Given the description of an element on the screen output the (x, y) to click on. 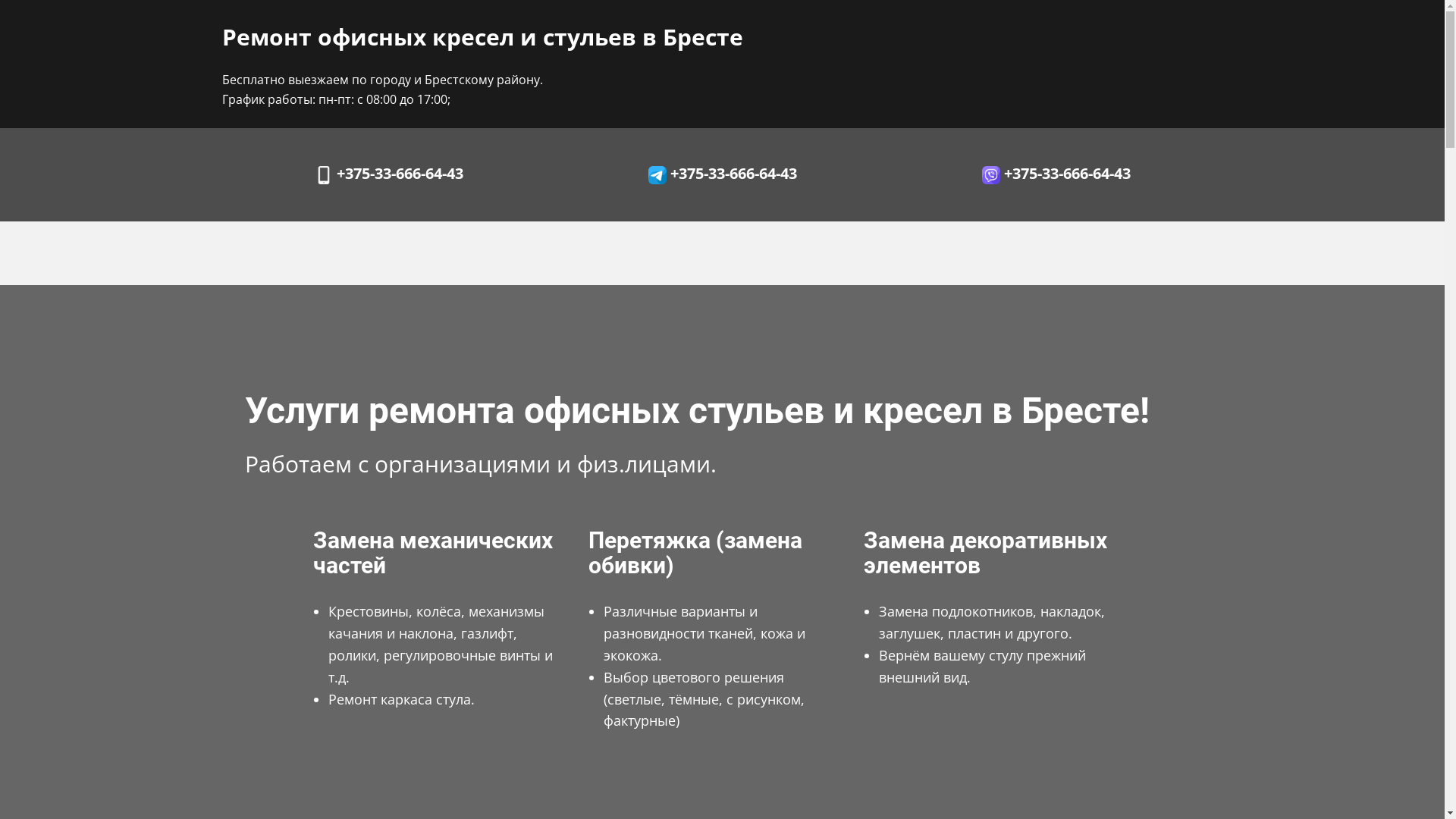
 +375-33-666-64-43 Element type: text (387, 174)
 +375-33-666-64-43 Element type: text (1055, 174)
 +375-33-666-64-43 Element type: text (721, 174)
